Given the description of an element on the screen output the (x, y) to click on. 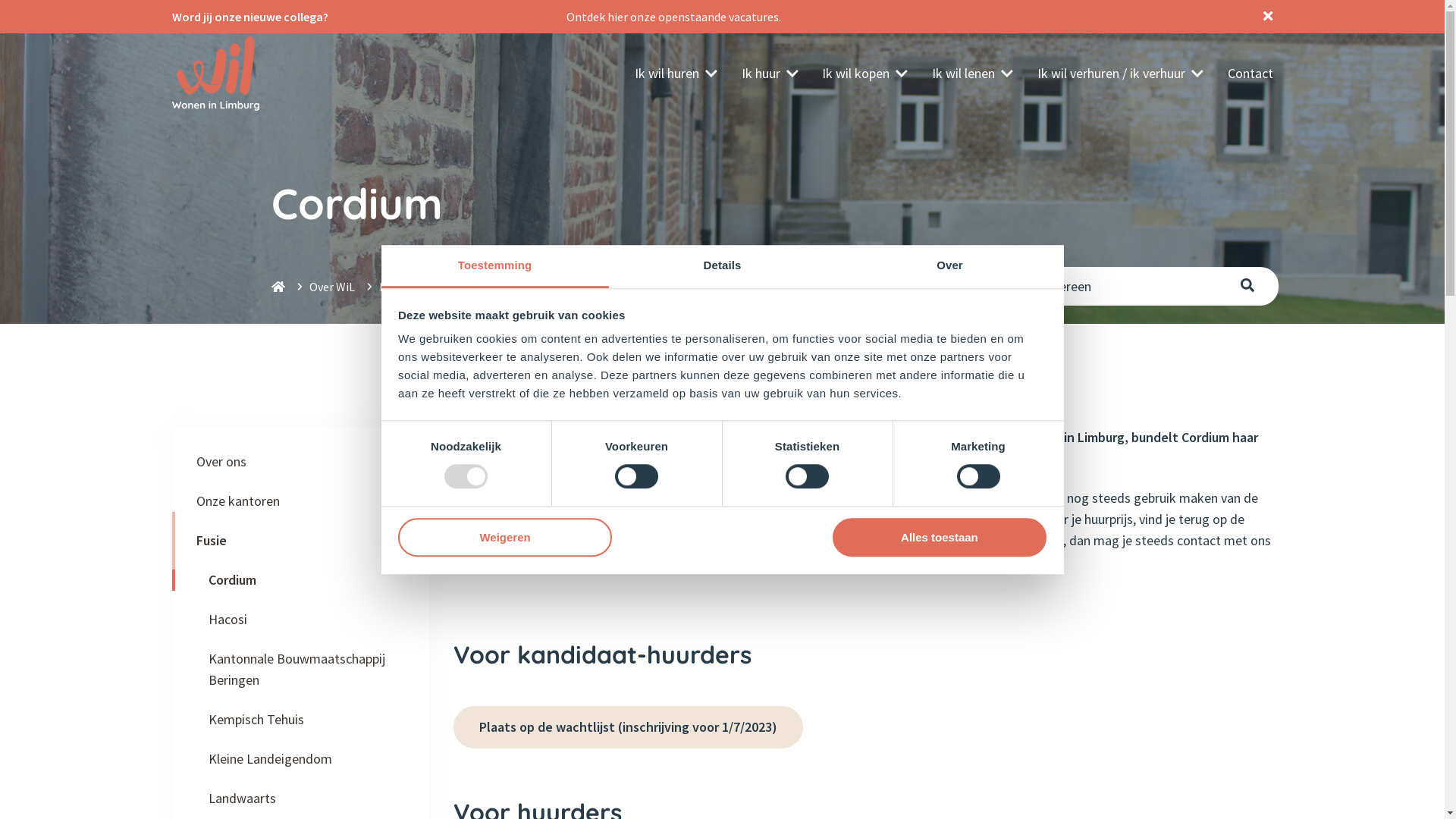
Kantonnale Bouwmaatschappij Beringen Element type: text (299, 669)
Landwaarts Element type: text (235, 798)
Kleine Landeigendom Element type: text (263, 758)
Fusie Element type: text (210, 540)
Ik wil kopen Element type: text (864, 73)
Cordium Element type: text (225, 579)
Onze kantoren Element type: text (237, 500)
Over WiL Element type: text (331, 286)
Details Element type: text (721, 266)
Ik wil lenen Element type: text (972, 73)
Toestemming Element type: text (494, 266)
Over Element type: text (949, 266)
Ga naar main content Element type: text (0, 0)
Over ons Element type: text (220, 461)
Weigeren Element type: text (504, 536)
Fusie Element type: text (392, 286)
Ik wil verhuren / ik verhuur Element type: text (1120, 73)
Hacosi Element type: text (220, 619)
Plaats op de wachtlijst (inschrijving voor 1/7/2023) Element type: text (628, 727)
Kempisch Tehuis Element type: text (249, 719)
Ik wil huren Element type: text (675, 73)
Ik huur Element type: text (769, 73)
hier Element type: text (618, 16)
Alles toestaan Element type: text (939, 536)
Contact Element type: text (1249, 73)
